Given the description of an element on the screen output the (x, y) to click on. 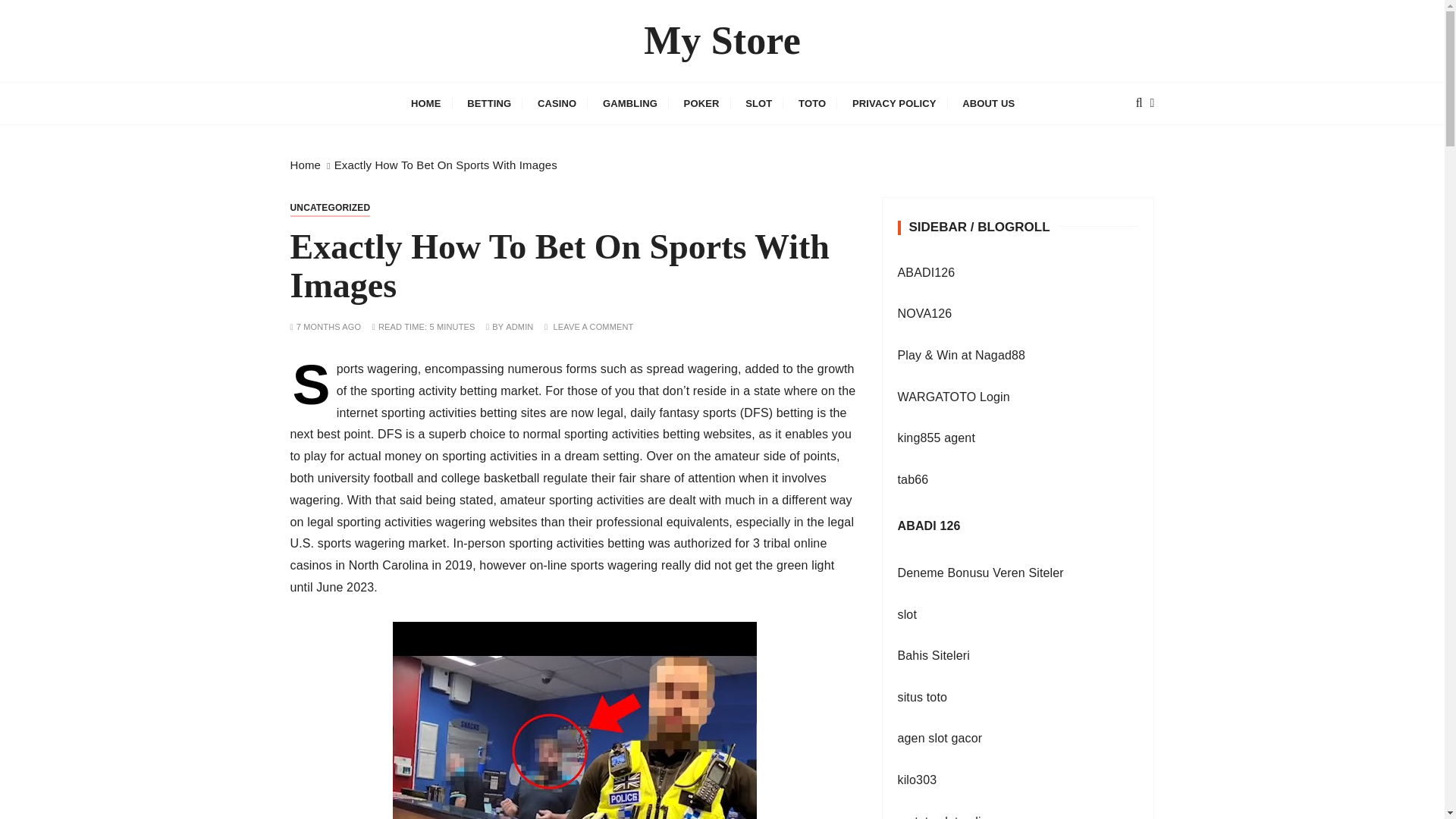
GAMBLING (629, 103)
ABOUT US (988, 103)
tab66 (913, 479)
ABADI 126 (929, 525)
HOME (425, 103)
Exactly How To Bet On Sports With Images (445, 164)
NOVA126 (925, 313)
king855 agent (936, 437)
TOTO (812, 103)
Home (304, 164)
ADMIN (518, 326)
My Store (721, 40)
slot (907, 614)
Bahis Siteleri (933, 655)
situs toto (922, 697)
